Given the description of an element on the screen output the (x, y) to click on. 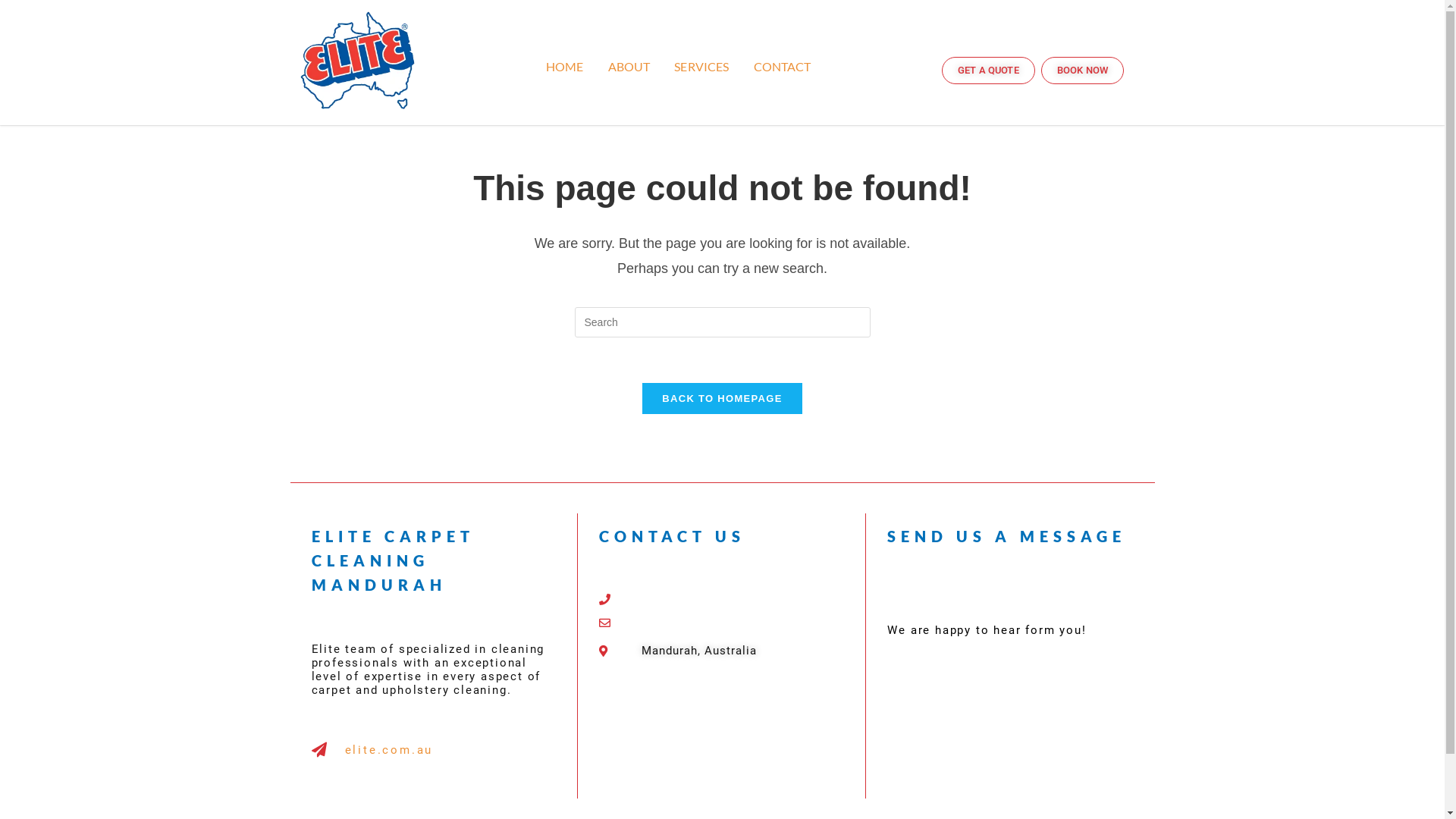
GET A QUOTE Element type: text (988, 70)
HOME Element type: text (564, 66)
BACK TO HOMEPAGE Element type: text (721, 398)
ABOUT Element type: text (629, 66)
BOOK NOW Element type: text (1082, 70)
SERVICES Element type: text (701, 66)
CONTACT Element type: text (782, 66)
